Given the description of an element on the screen output the (x, y) to click on. 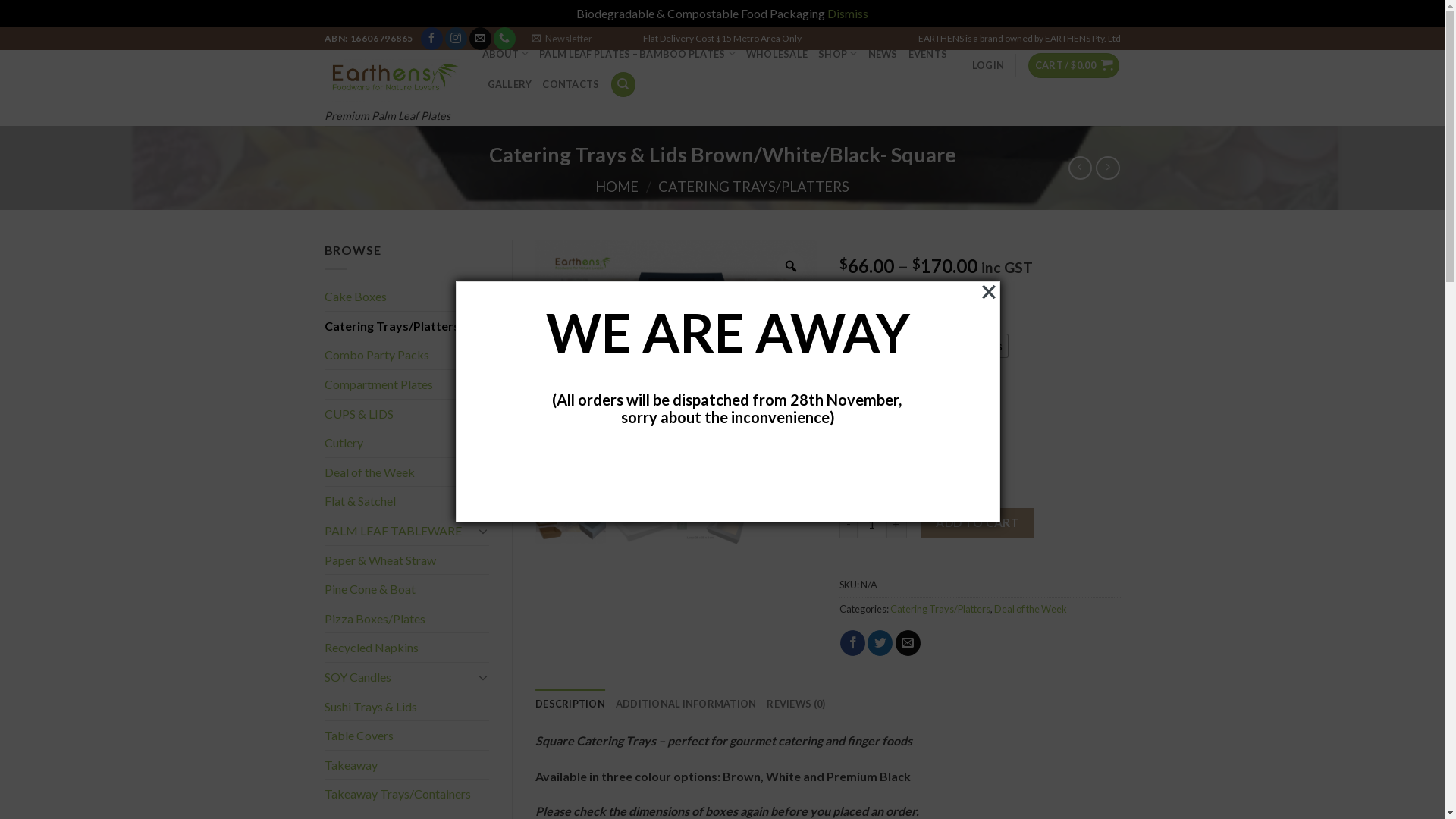
Combo Party Packs Element type: text (406, 354)
Takeaway Trays/Containers Element type: text (406, 793)
ADDITIONAL INFORMATION Element type: text (685, 703)
Newsletter Element type: text (561, 38)
Deal of the Week Element type: text (398, 472)
EVENTS Element type: text (927, 53)
Black Box Combo Element type: hover (394, 380)
Catering Trays/Platters Element type: text (406, 325)
CART / $0.00 Element type: text (1073, 65)
DESCRIPTION Element type: text (570, 703)
Table Covers Element type: text (406, 735)
Cake Boxes Element type: text (406, 296)
Sushi Trays & Lids Element type: text (406, 706)
Earthens - Premium Palm Leaf Plates Element type: hover (391, 75)
CATERING TRAYS/PLATTERS Element type: text (753, 186)
Call us Element type: hover (504, 38)
Pizza Boxes/Plates Element type: text (406, 618)
GALLERY Element type: text (508, 84)
Black Box Combo Element type: hover (710, 509)
HOME Element type: text (616, 186)
REVIEWS (0) Element type: text (795, 703)
PALM LEAF TABLEWARE Element type: text (398, 530)
Takeaway Element type: text (406, 764)
Share on Twitter Element type: hover (879, 642)
Compartment Plates Element type: text (406, 384)
White and Brown Tray Element type: hover (640, 509)
Square Box-1 Element type: hover (570, 509)
CUPS & LIDS Element type: text (398, 413)
CONTACTS Element type: text (570, 84)
SHOP Element type: text (837, 53)
WHOLESALE Element type: text (776, 53)
Pine Cone & Boat Element type: text (406, 588)
LOGIN Element type: text (988, 65)
Deal of the Week Element type: text (1030, 608)
Share on Facebook Element type: hover (852, 642)
Dismiss Element type: text (847, 13)
Follow on Instagram Element type: hover (456, 38)
Recycled Napkins Element type: text (406, 647)
Square Box-1 Element type: hover (675, 356)
Paper & Wheat Straw Element type: text (406, 560)
Follow on Facebook Element type: hover (431, 38)
Cutlery Element type: text (406, 442)
ABOUT Element type: text (505, 53)
SOY Candles Element type: text (398, 676)
NEWS Element type: text (882, 53)
Send us an email Element type: hover (480, 38)
Email to a Friend Element type: hover (907, 642)
Flat & Satchel Element type: text (406, 500)
Catering Trays/Platters Element type: text (940, 608)
ADD TO CART Element type: text (977, 522)
